Given the description of an element on the screen output the (x, y) to click on. 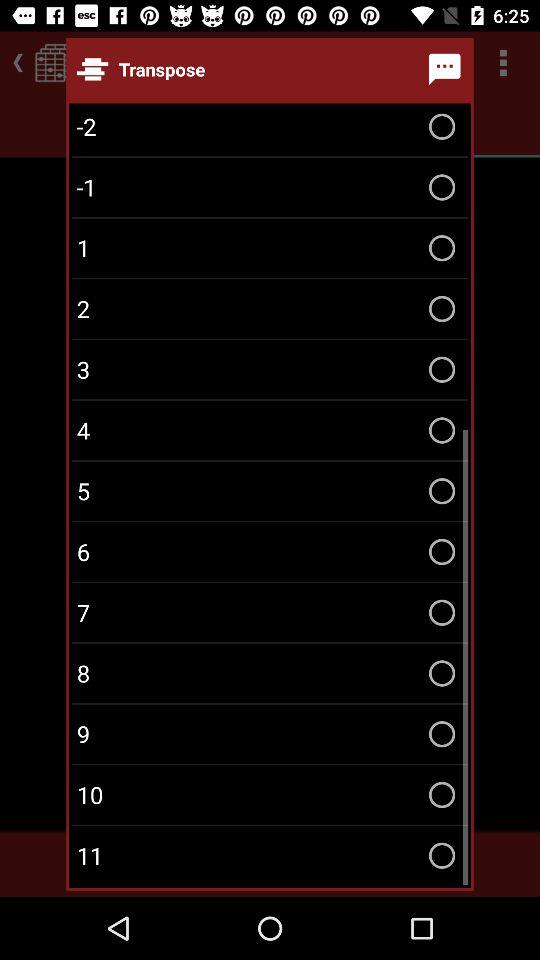
click the 4 (269, 430)
